Given the description of an element on the screen output the (x, y) to click on. 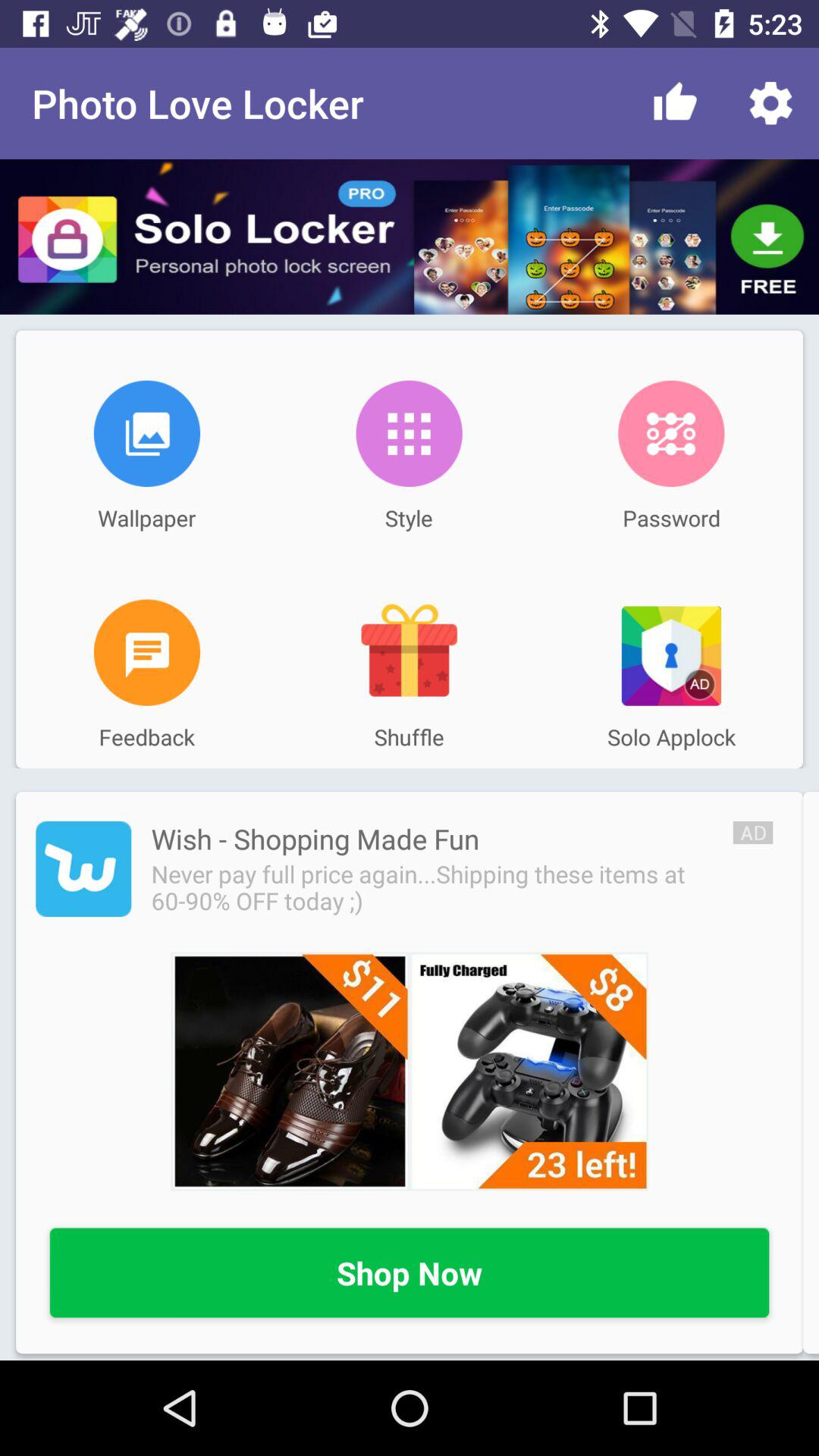
share feedback (146, 652)
